Given the description of an element on the screen output the (x, y) to click on. 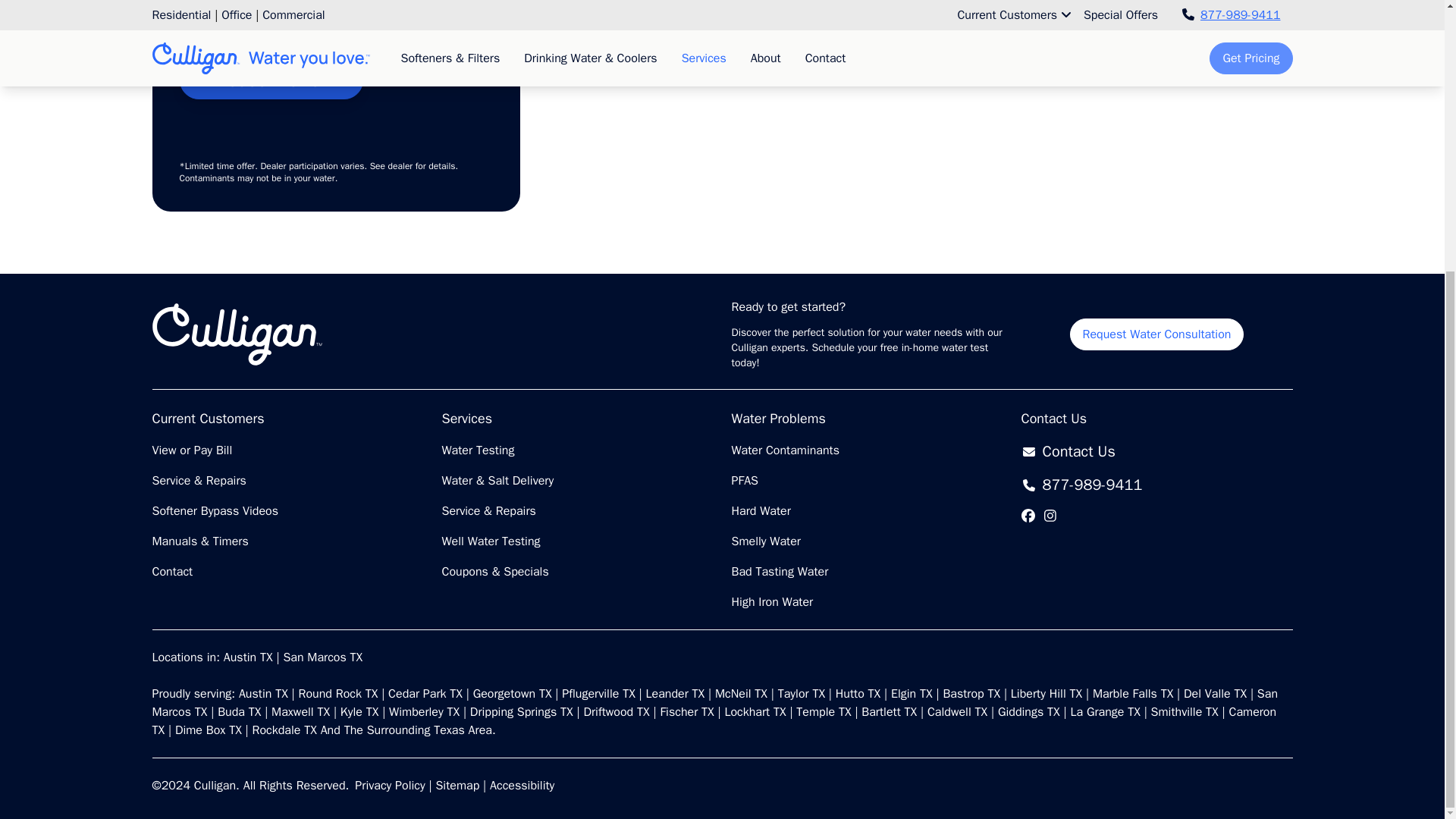
Request Water Consultation (1157, 334)
Redeem Offer (270, 80)
